Given the description of an element on the screen output the (x, y) to click on. 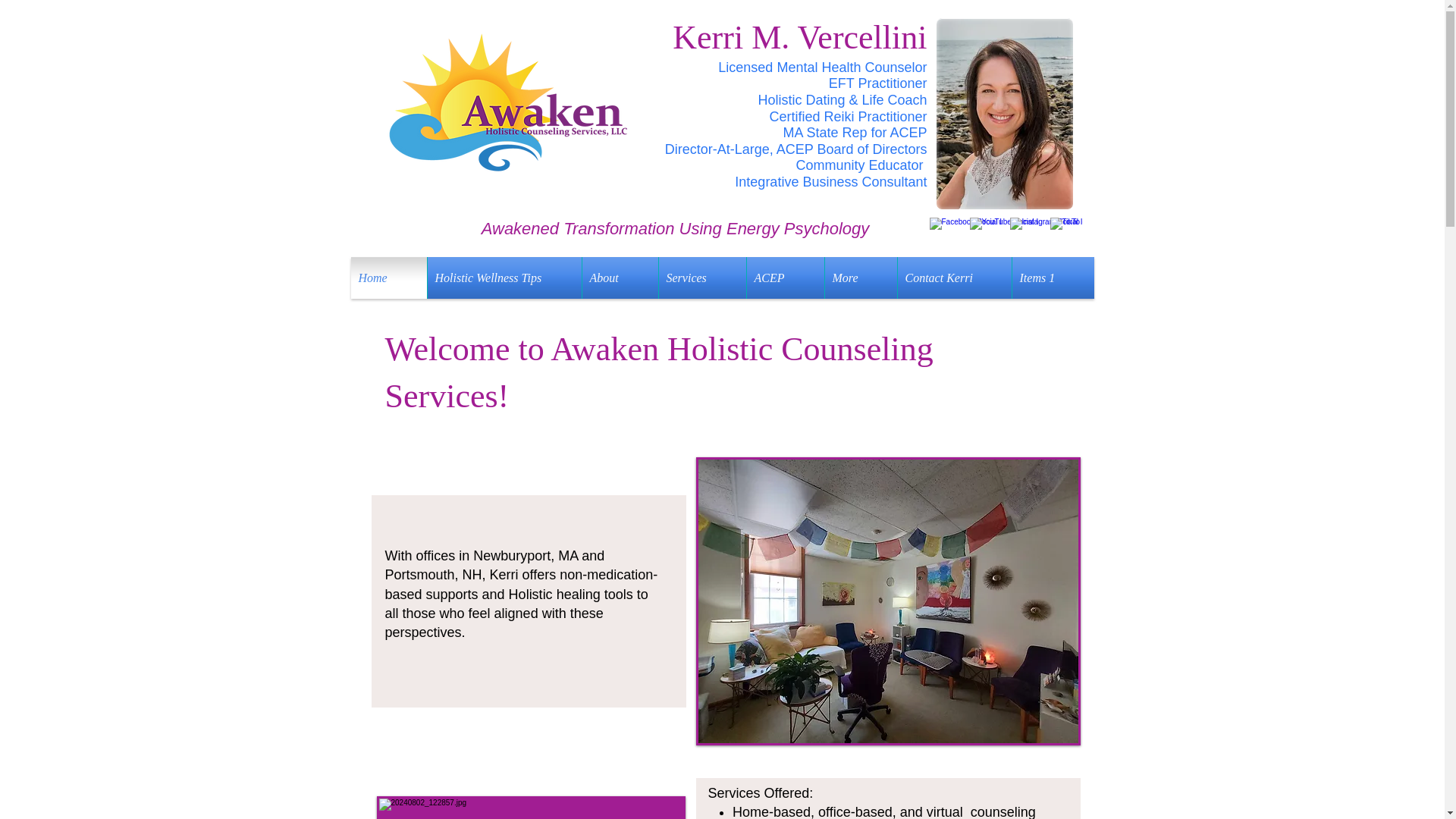
Home (388, 277)
Services (701, 277)
Contact Kerri (954, 277)
awak01-1.png (501, 102)
Items 1 (1052, 277)
Holistic Wellness Tips (504, 277)
ACEP (784, 277)
